Given the description of an element on the screen output the (x, y) to click on. 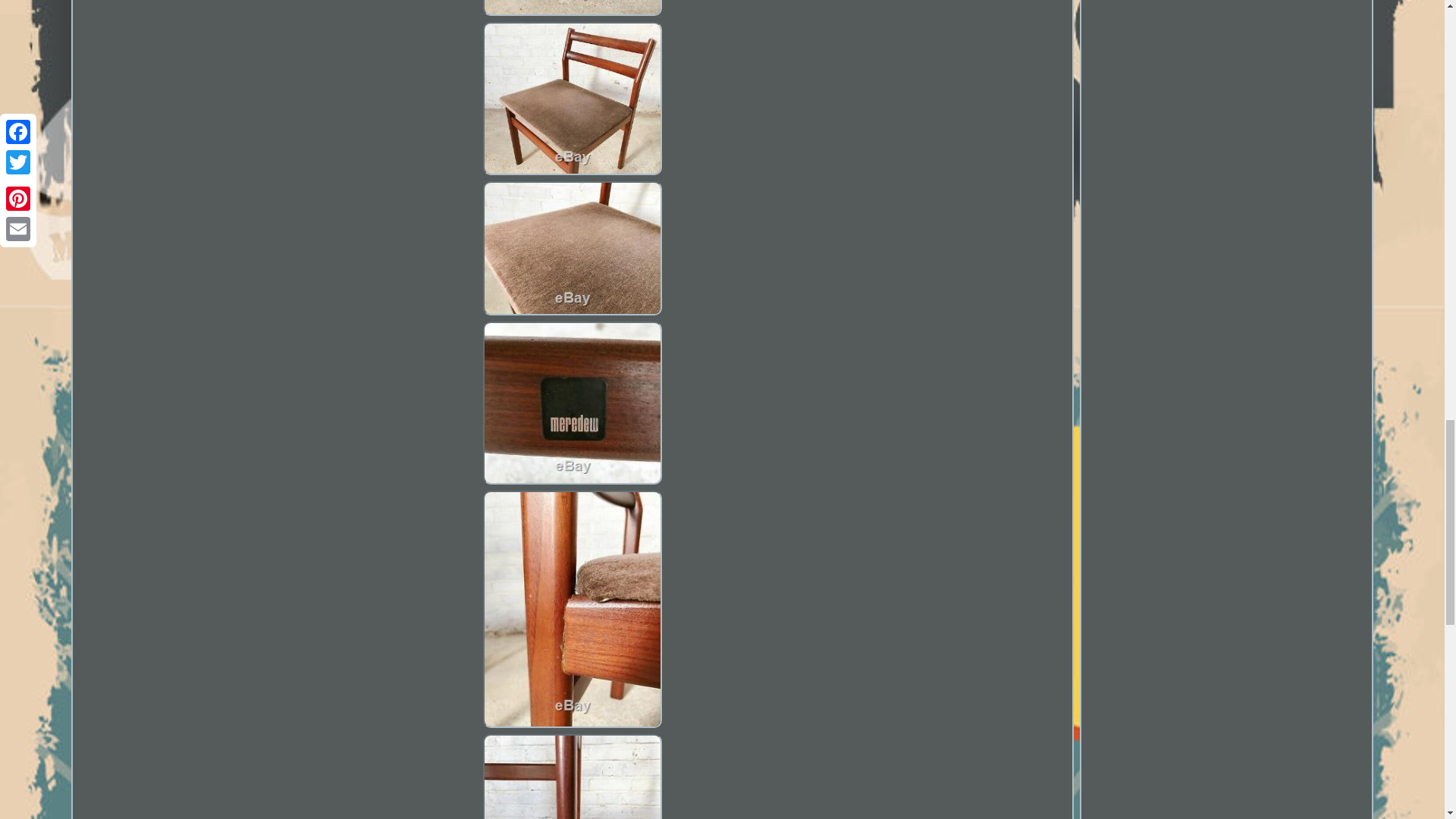
Set Of Four Mid Century Teak Meredew Dining Chairs VINTAGE (572, 402)
Set Of Four Mid Century Teak Meredew Dining Chairs Vintage (571, 10)
Set Of Four Mid Century Teak Meredew Dining Chairs Vintage (571, 99)
Set Of Four Mid Century Teak Meredew Dining Chairs Vintage (571, 404)
Set Of Four Mid Century Teak Meredew Dining Chairs VINTAGE (572, 248)
Set Of Four Mid Century Teak Meredew Dining Chairs VINTAGE (572, 98)
Set Of Four Mid Century Teak Meredew Dining Chairs Vintage (571, 250)
Set Of Four Mid Century Teak Meredew Dining Chairs VINTAGE (572, 7)
